Given the description of an element on the screen output the (x, y) to click on. 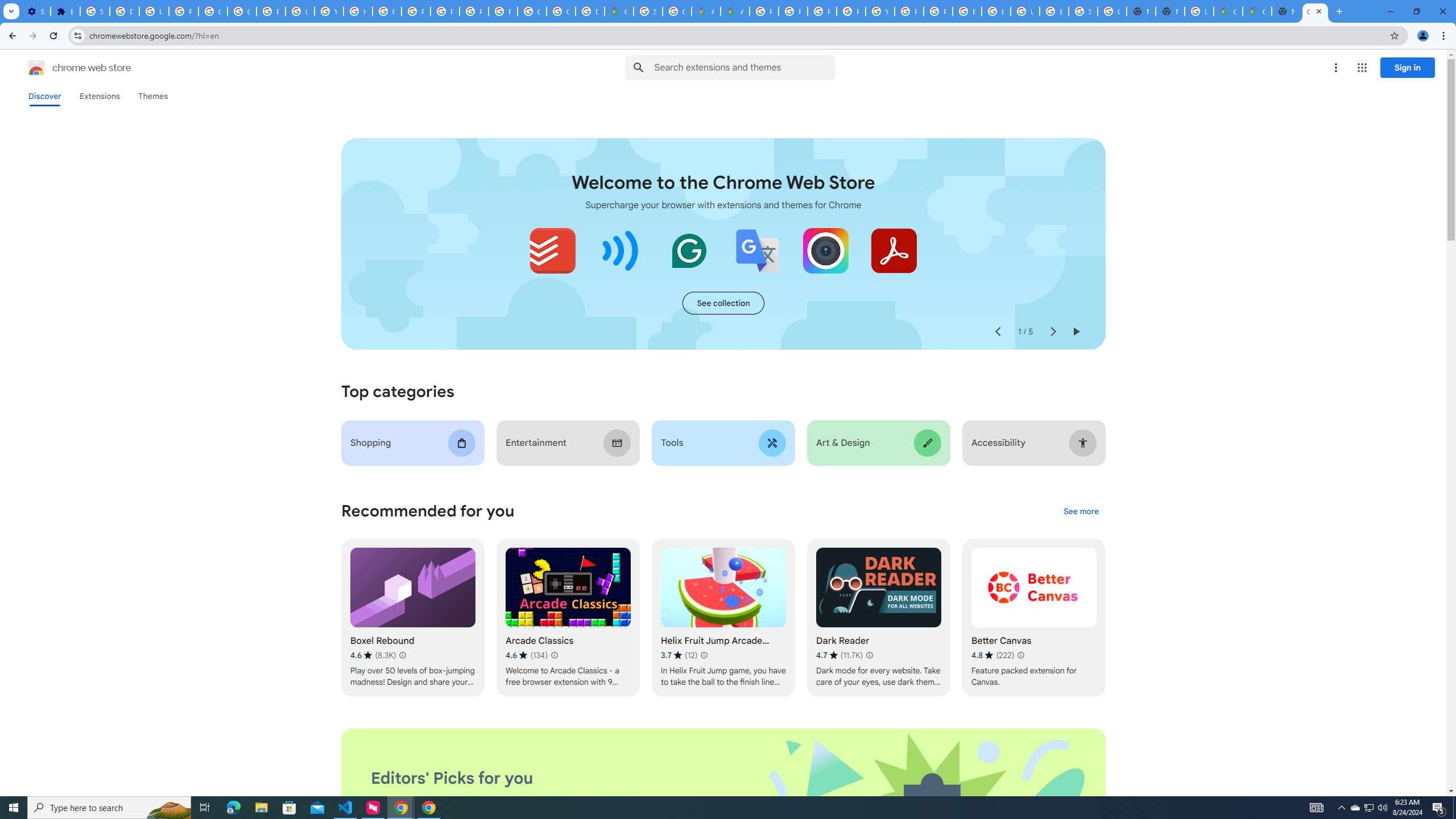
Delete photos & videos - Computer - Google Photos Help (124, 11)
https://scholar.google.com/ (357, 11)
Average rating 4.7 out of 5 stars. 11.7K ratings. (839, 655)
Helix Fruit Jump Arcade Game (722, 617)
Learn more about results and reviews "Better Canvas" (1019, 655)
Resume auto-play (1075, 331)
Average rating 4.8 out of 5 stars. 222 ratings. (992, 655)
Sign in - Google Accounts (1082, 11)
